Given the description of an element on the screen output the (x, y) to click on. 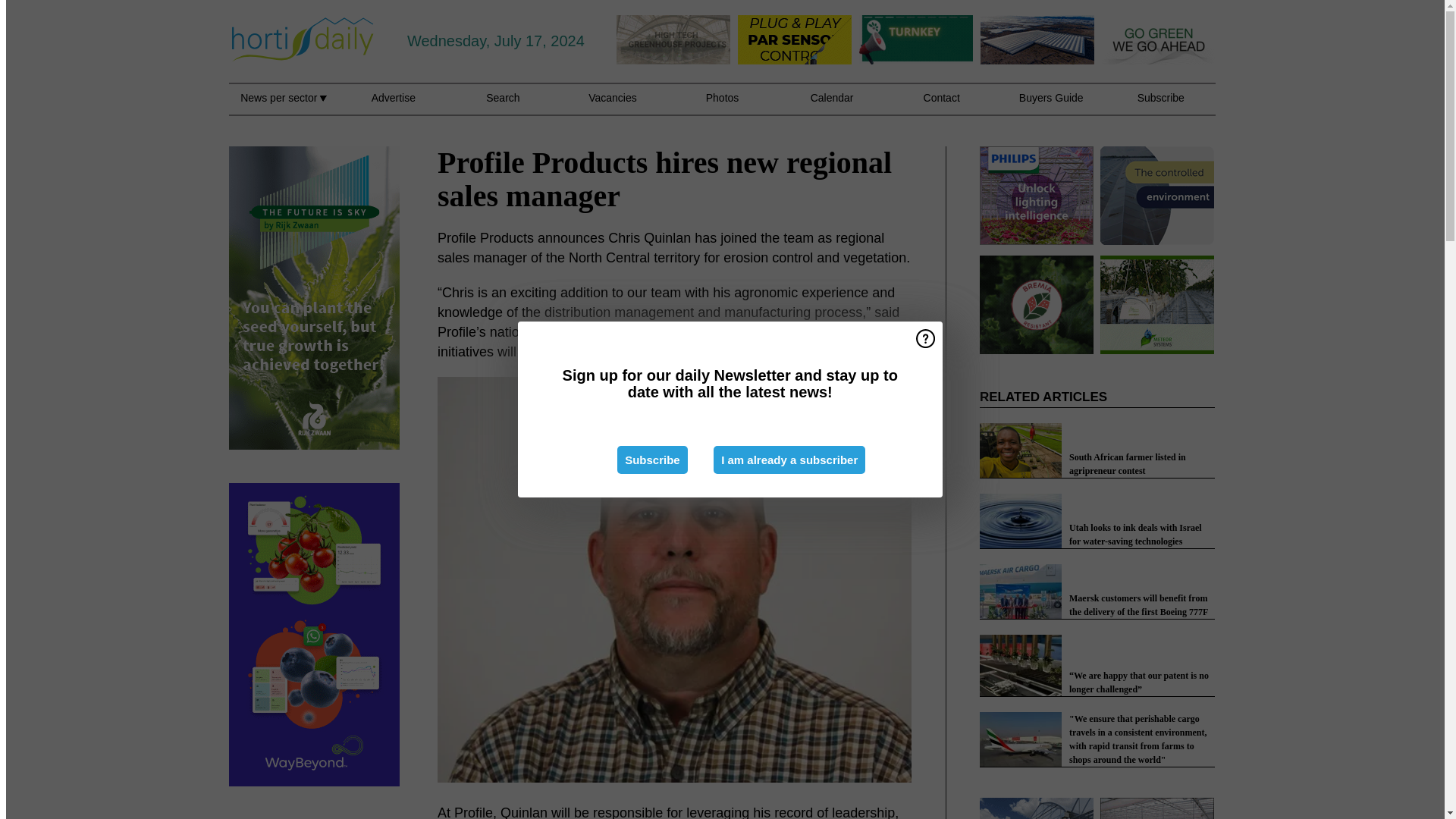
News per sector (283, 106)
Subscribe (652, 459)
I am already a subscriber (788, 459)
